Given the description of an element on the screen output the (x, y) to click on. 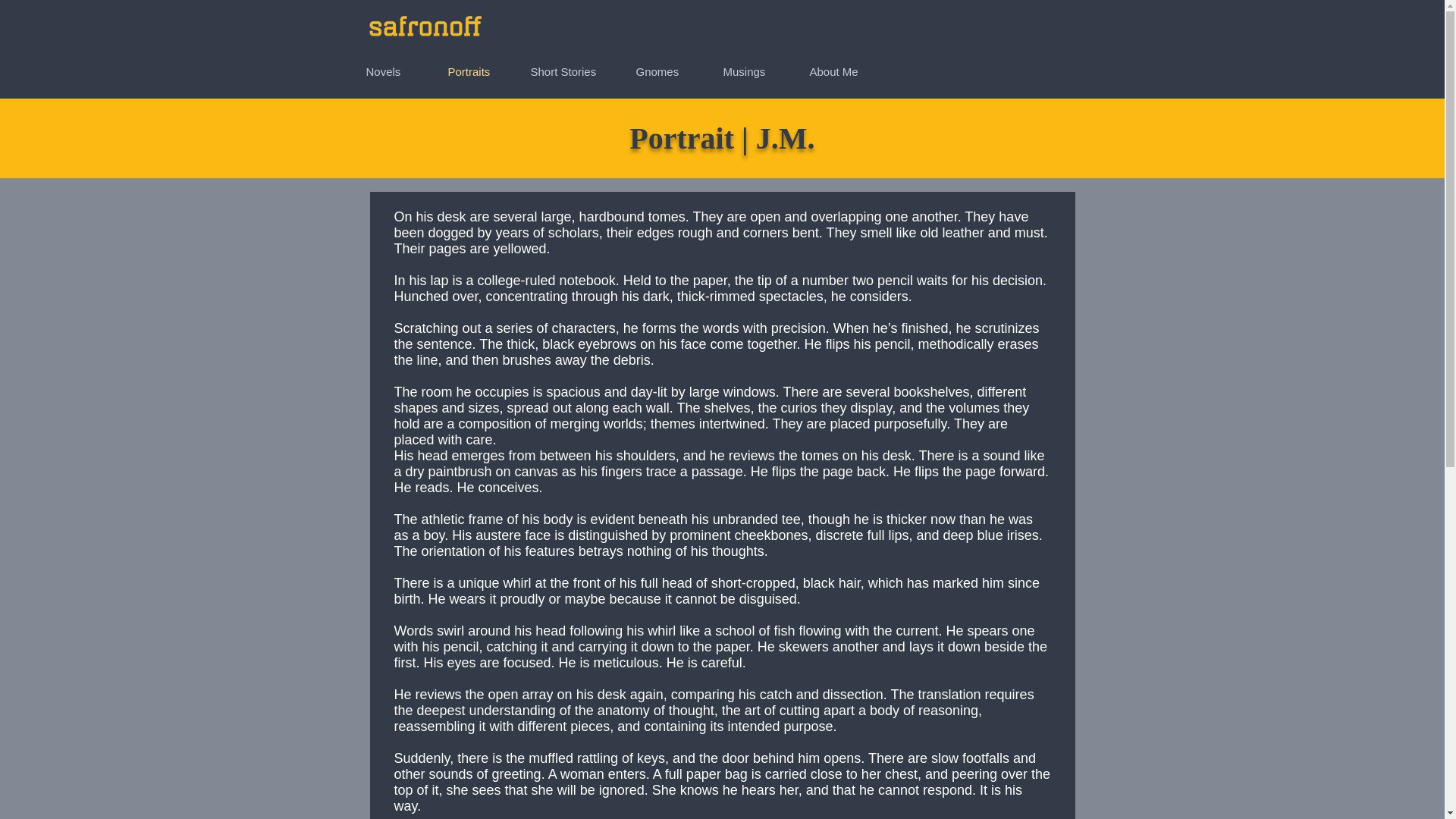
About Me (849, 71)
Portraits (480, 71)
Musings (759, 71)
Short Stories (575, 71)
Gnomes (670, 71)
